Given the description of an element on the screen output the (x, y) to click on. 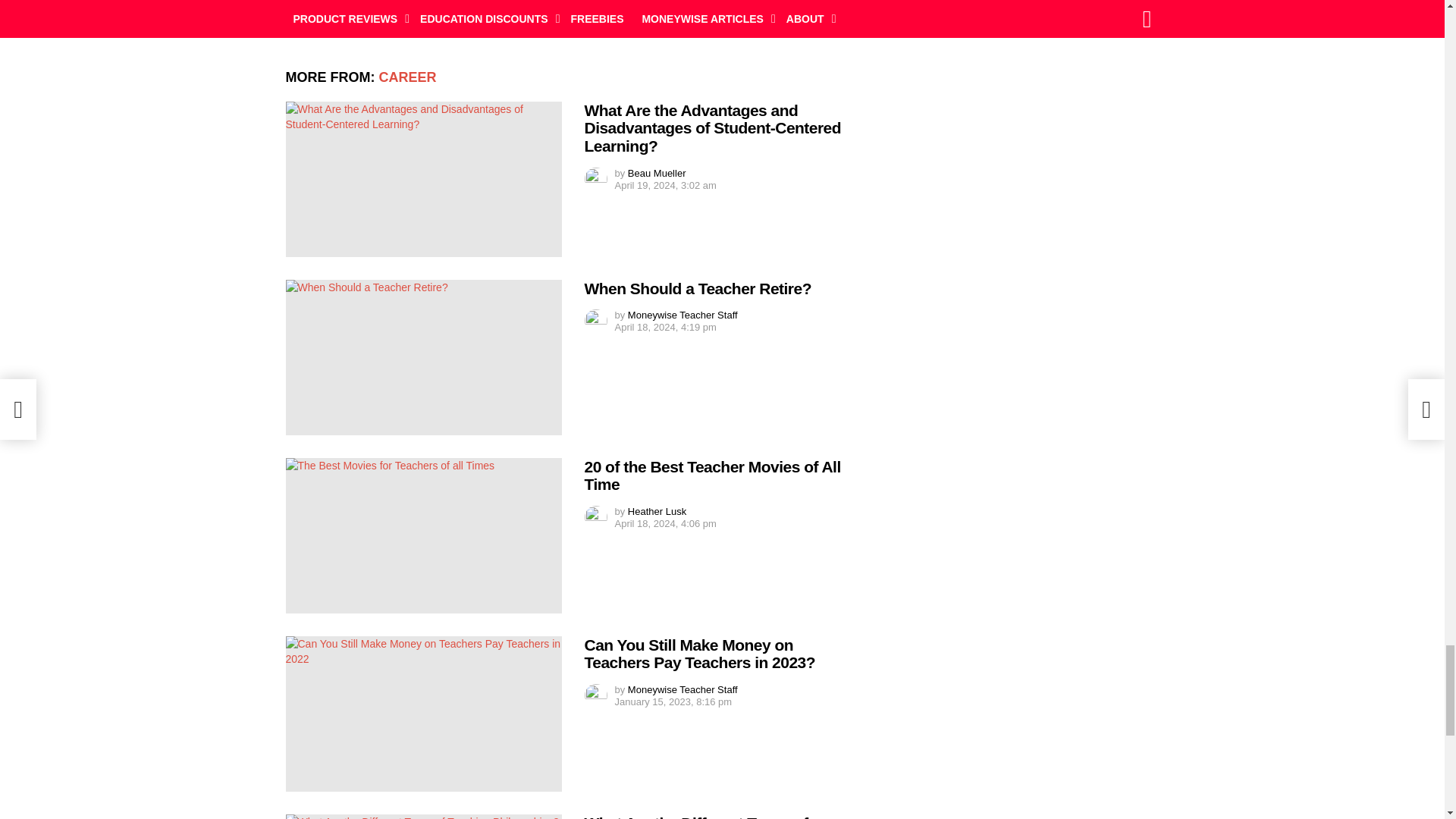
When Should a Teacher Retire? (422, 357)
Posts by Beau Mueller (656, 173)
